Given the description of an element on the screen output the (x, y) to click on. 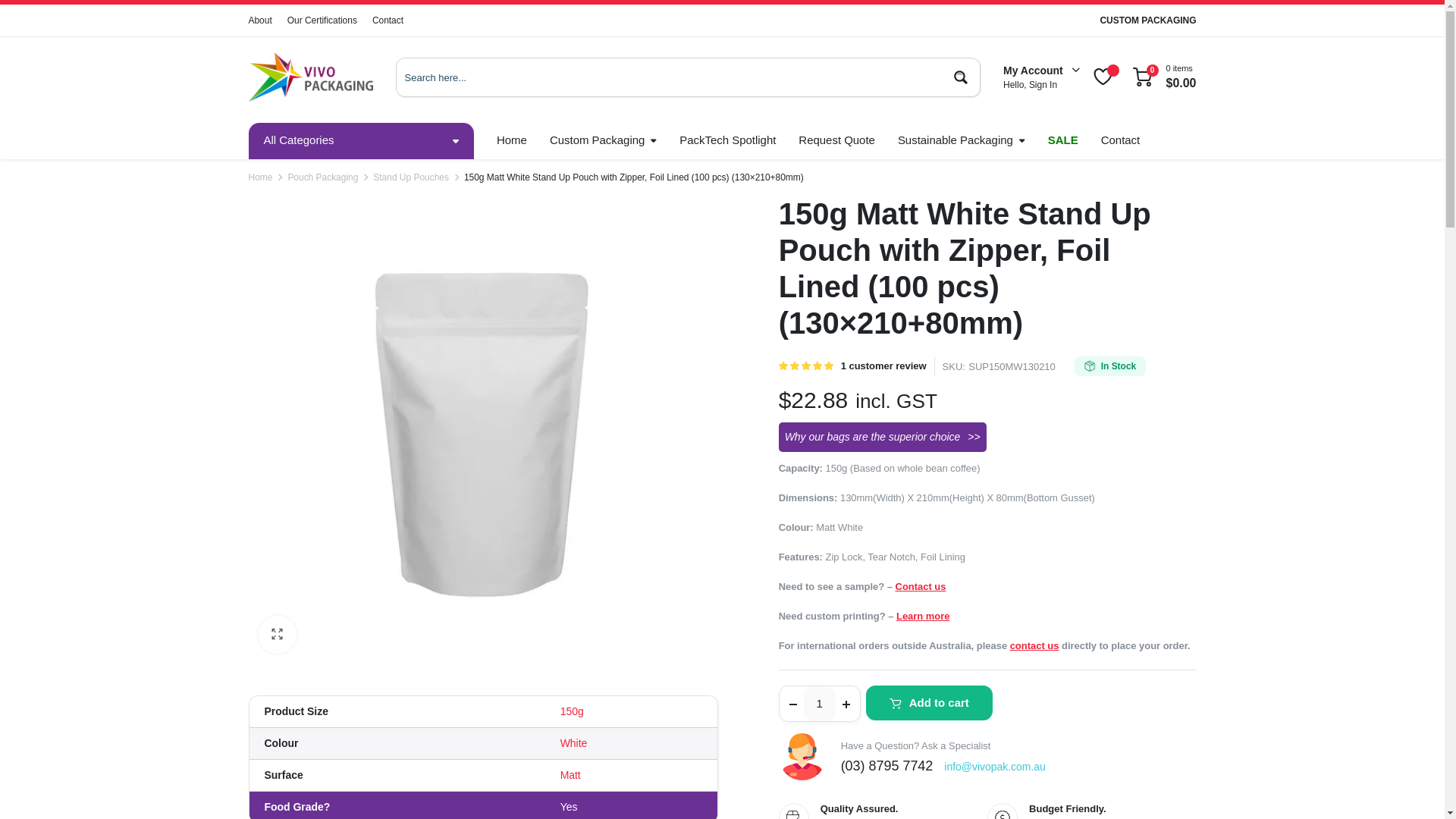
CUSTOM PACKAGING (1147, 20)
All Categories (361, 140)
Our Certifications (321, 20)
Contact (387, 20)
1 (819, 703)
Vivo Packaging Australia (310, 77)
